Given the description of an element on the screen output the (x, y) to click on. 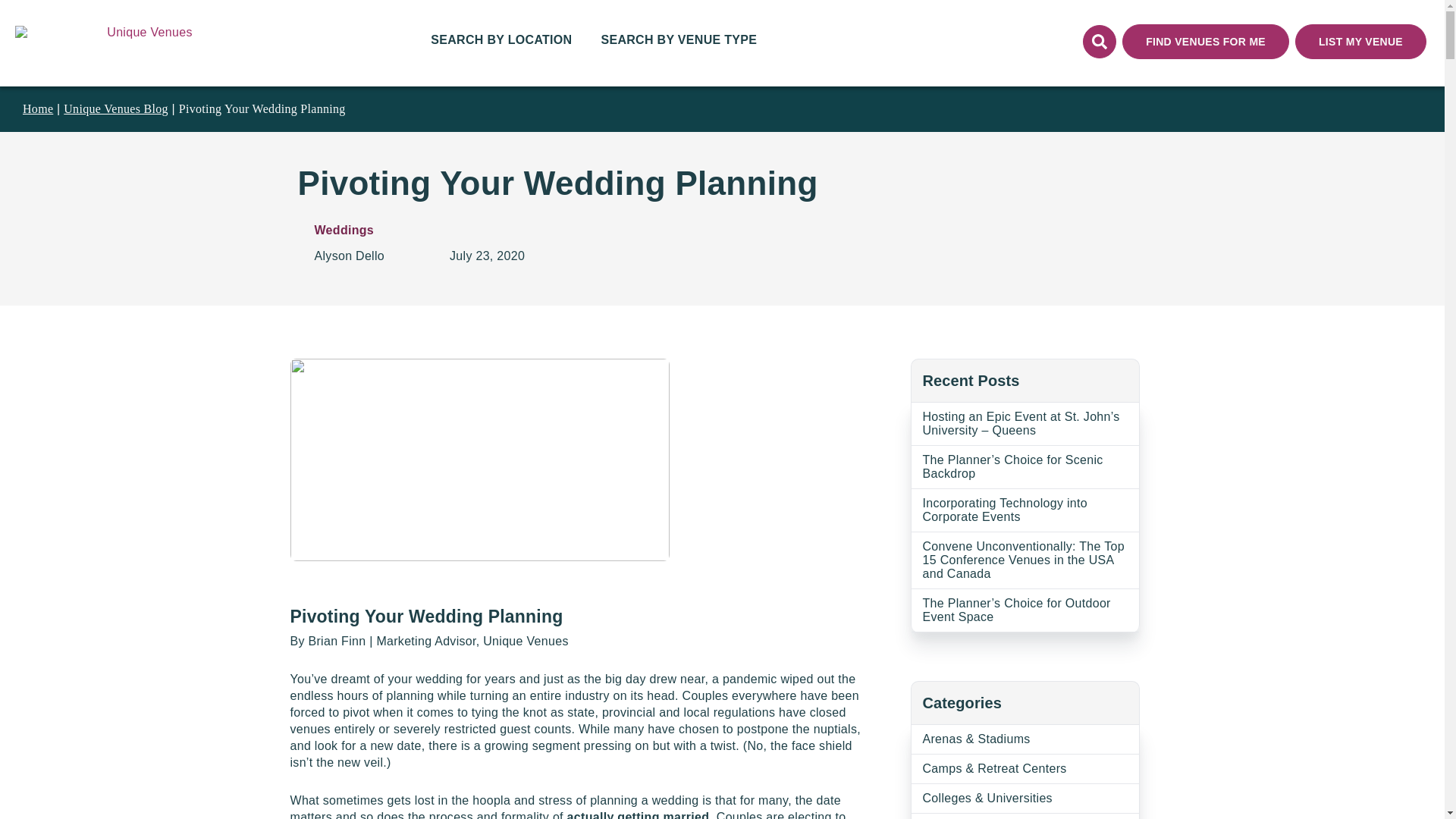
List My Venues (1360, 41)
SEARCH BY VENUE TYPE (678, 43)
SEARCH BY LOCATION (501, 43)
Unique Venues (148, 41)
Find Venues For Me (1205, 41)
